Given the description of an element on the screen output the (x, y) to click on. 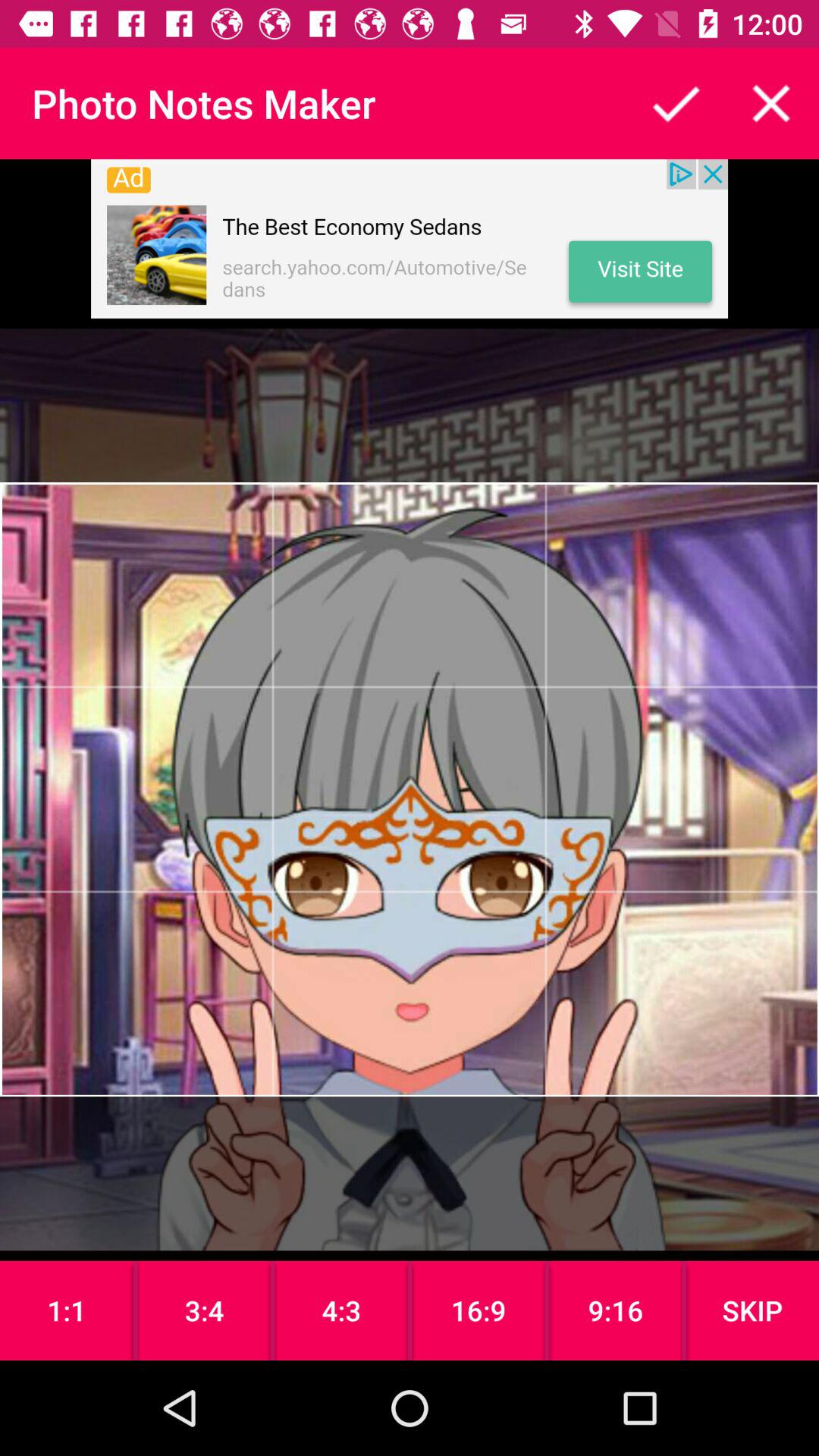
advertisement banner (409, 238)
